Given the description of an element on the screen output the (x, y) to click on. 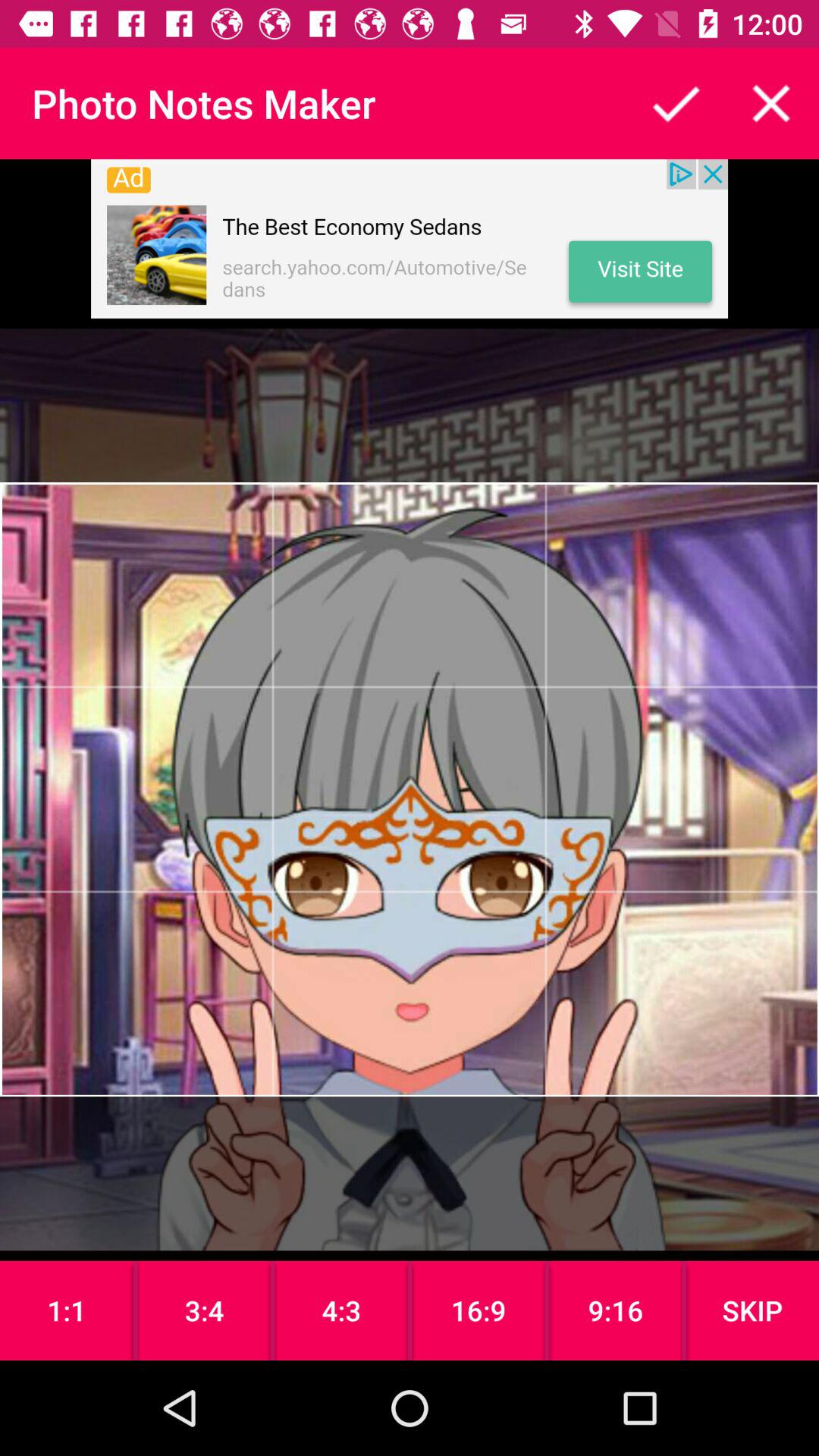
advertisement banner (409, 238)
